Given the description of an element on the screen output the (x, y) to click on. 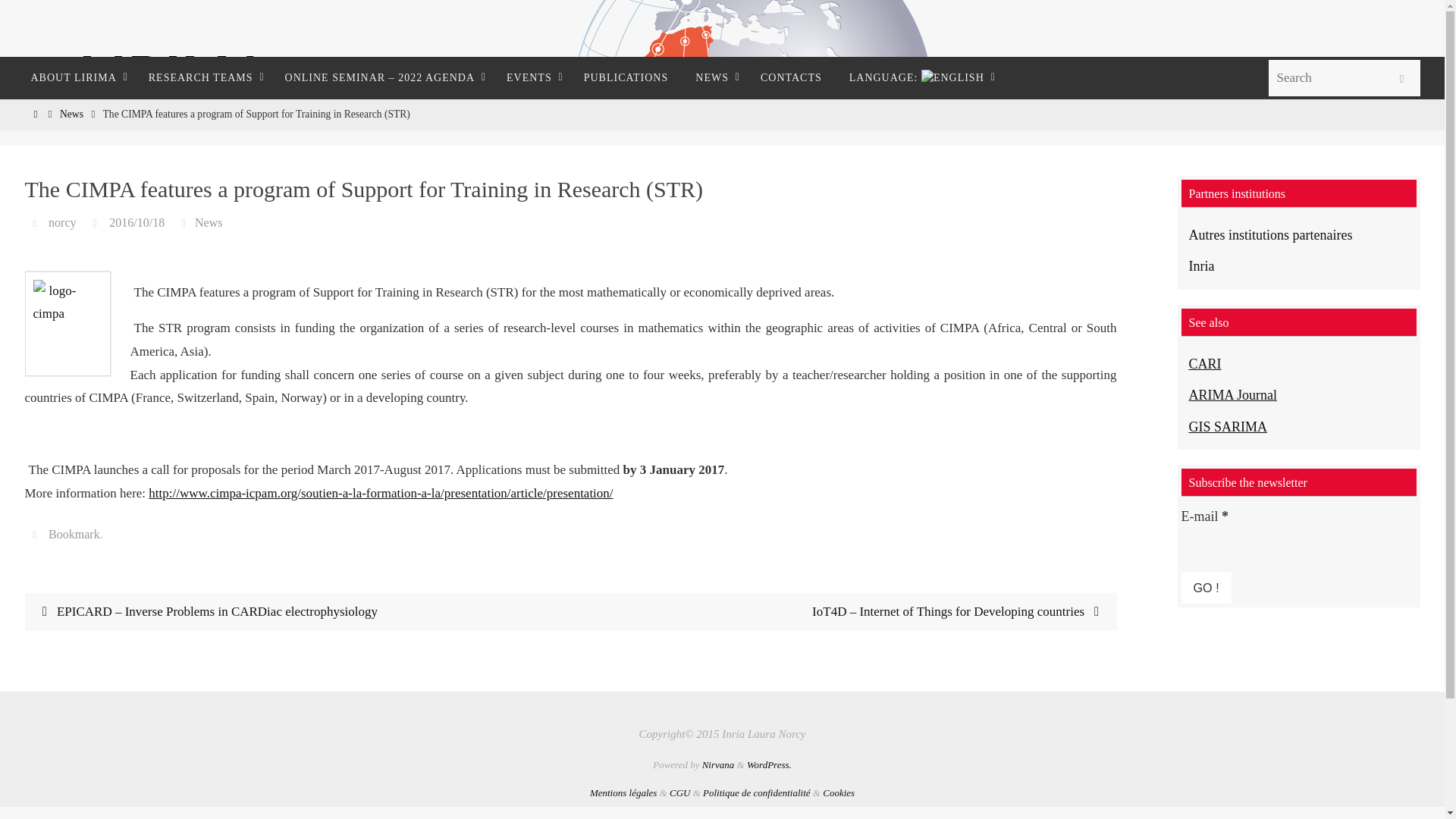
Date (96, 222)
Author  (36, 222)
GO ! (1205, 587)
English (919, 77)
View all posts by norcy (61, 223)
 Bookmark the permalink (36, 533)
ABOUT LIRIMA (74, 77)
E-mail (1267, 543)
Nirvana Theme by Cryout Creations (718, 764)
